Given the description of an element on the screen output the (x, y) to click on. 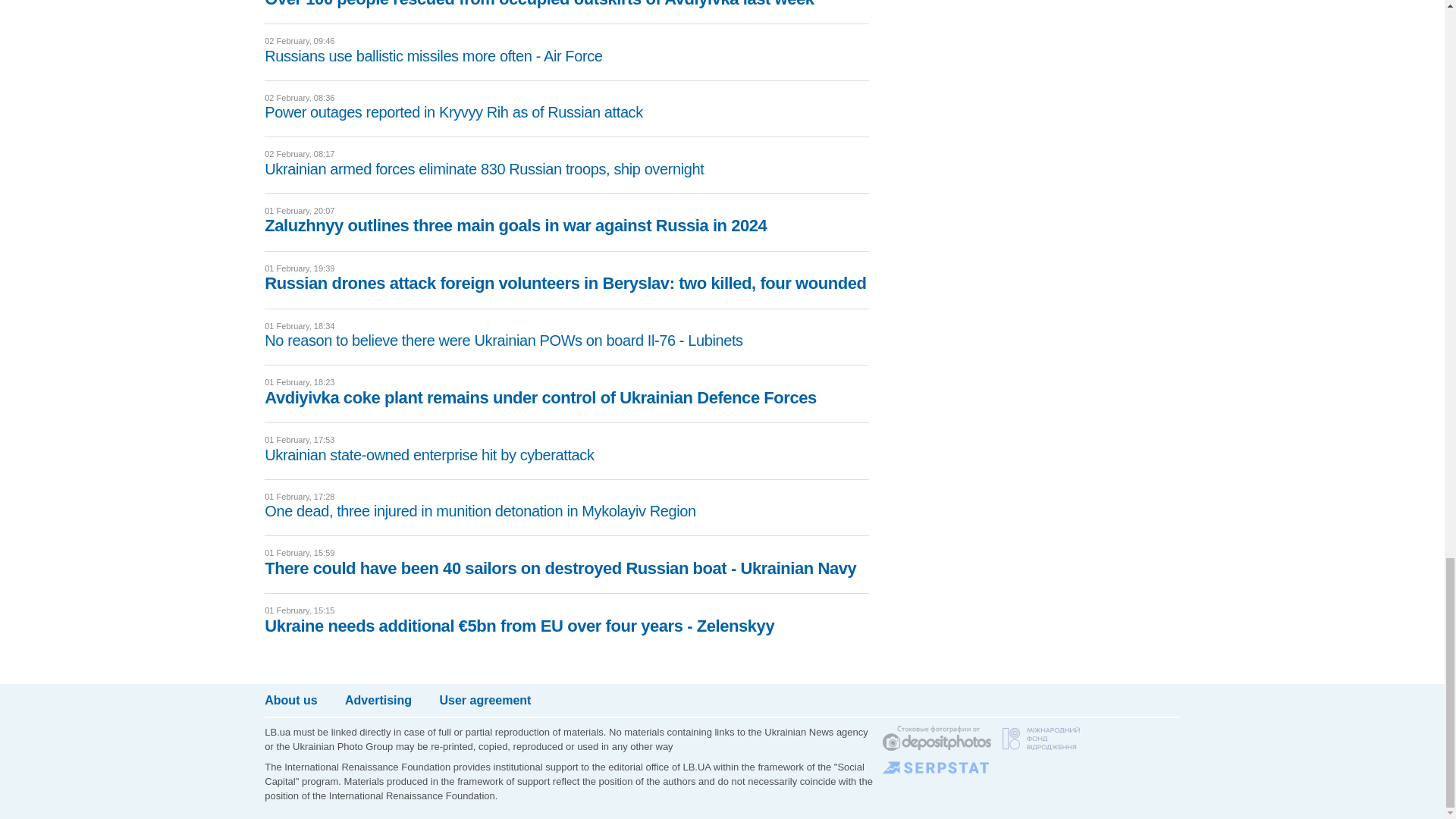
Russians use ballistic missiles more often - Air Force (433, 55)
Power outages reported in Kryvyy Rih as of Russian attack (453, 112)
